Given the description of an element on the screen output the (x, y) to click on. 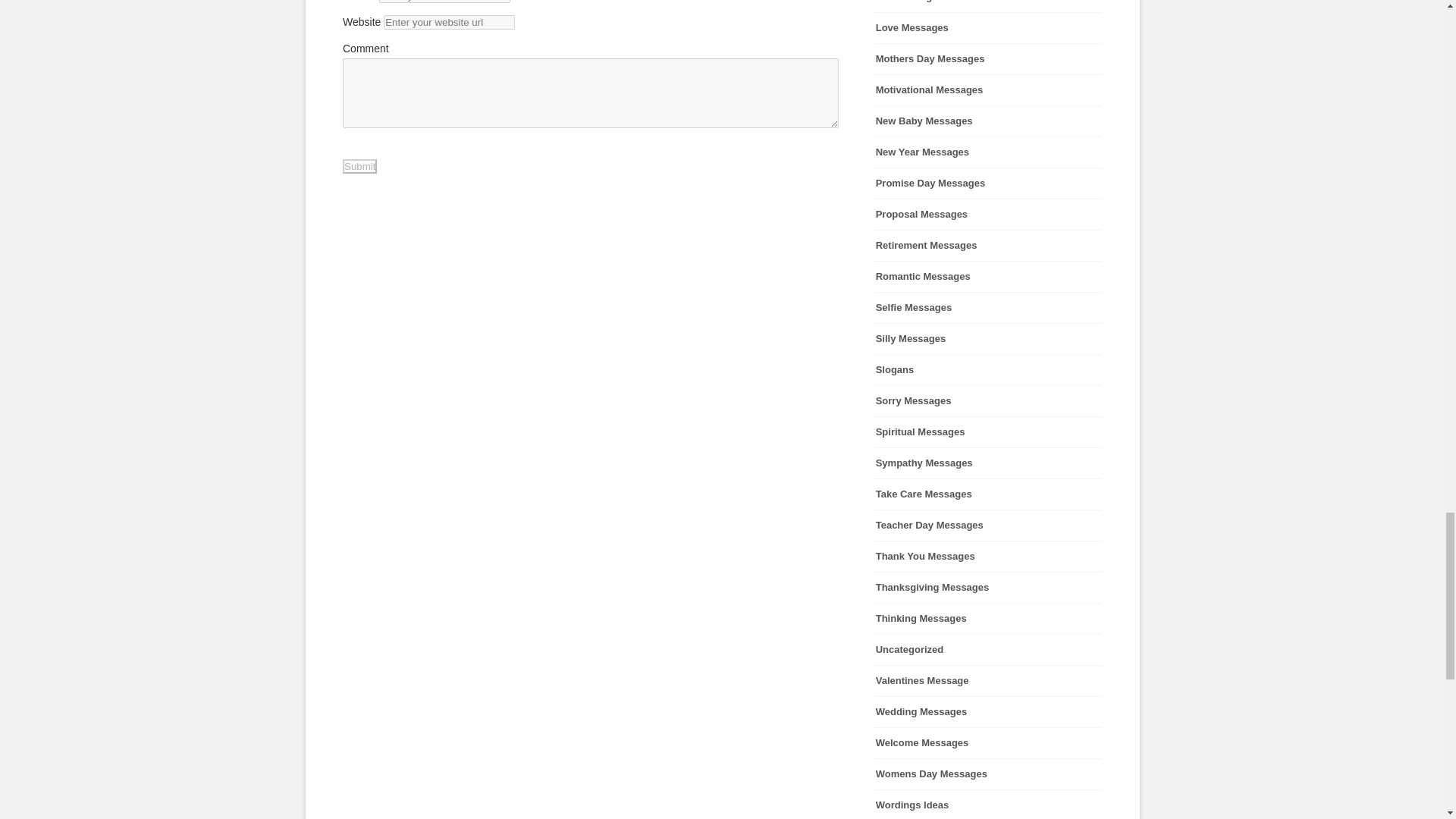
Submit (359, 165)
Submit (359, 165)
